Given the description of an element on the screen output the (x, y) to click on. 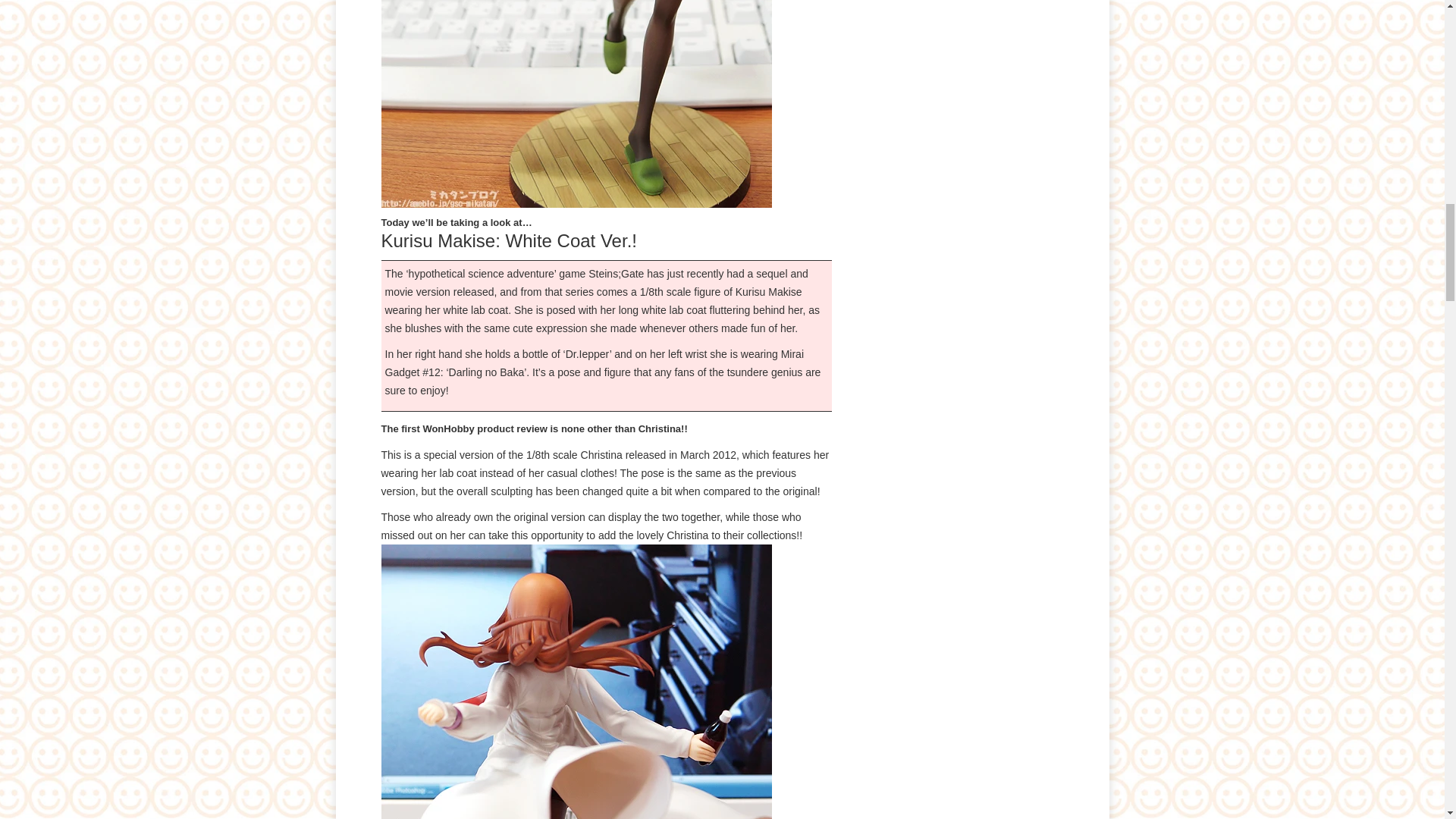
003 (575, 681)
002 (575, 104)
